Given the description of an element on the screen output the (x, y) to click on. 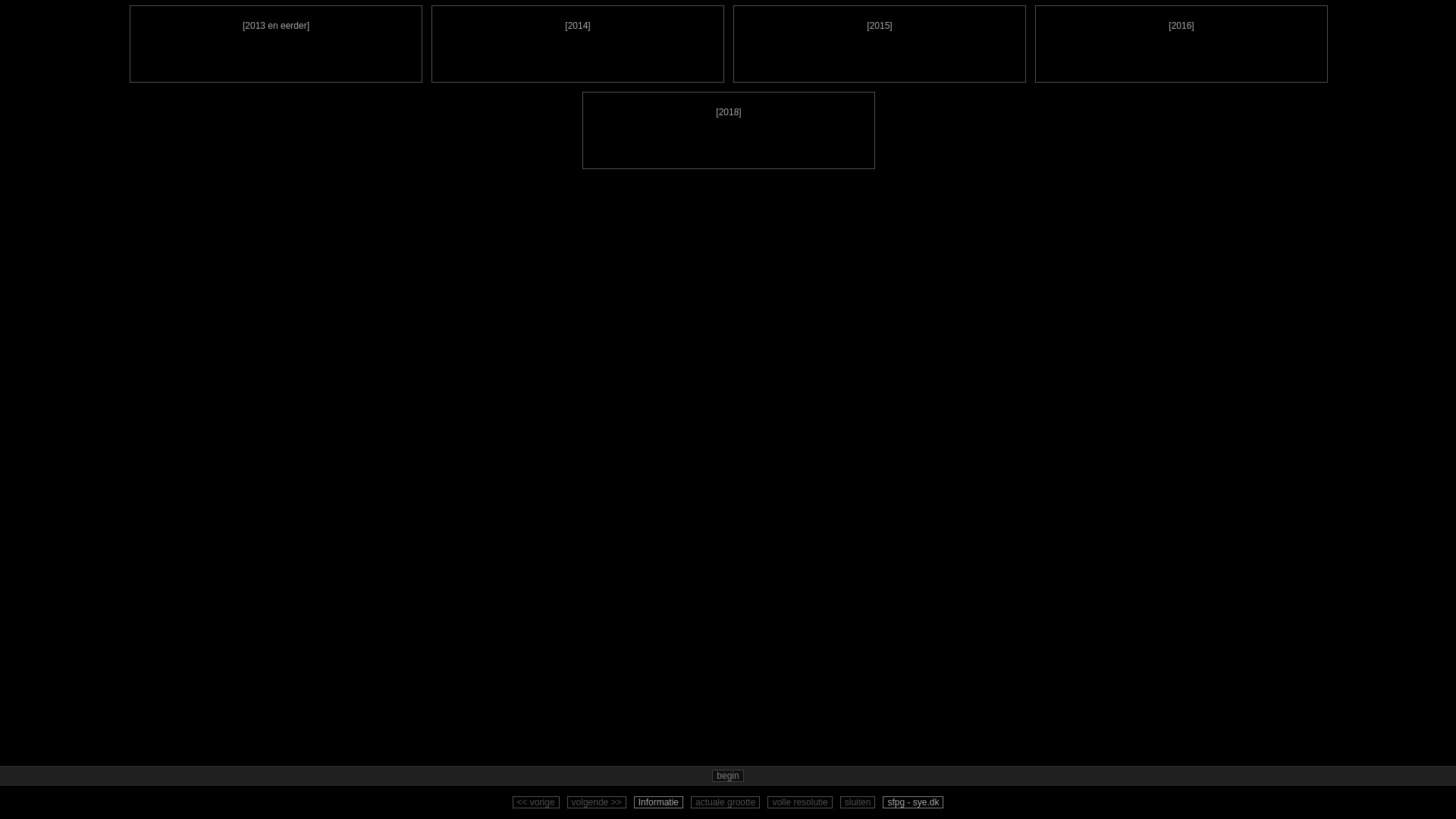
[2018] Element type: text (728, 130)
[2014] Element type: text (577, 43)
begin Element type: text (727, 775)
Informatie Element type: text (658, 802)
[2016] Element type: text (1181, 43)
[2013 en eerder] Element type: text (275, 43)
sfpg - sye.dk Element type: text (912, 802)
[2015] Element type: text (879, 43)
